Given the description of an element on the screen output the (x, y) to click on. 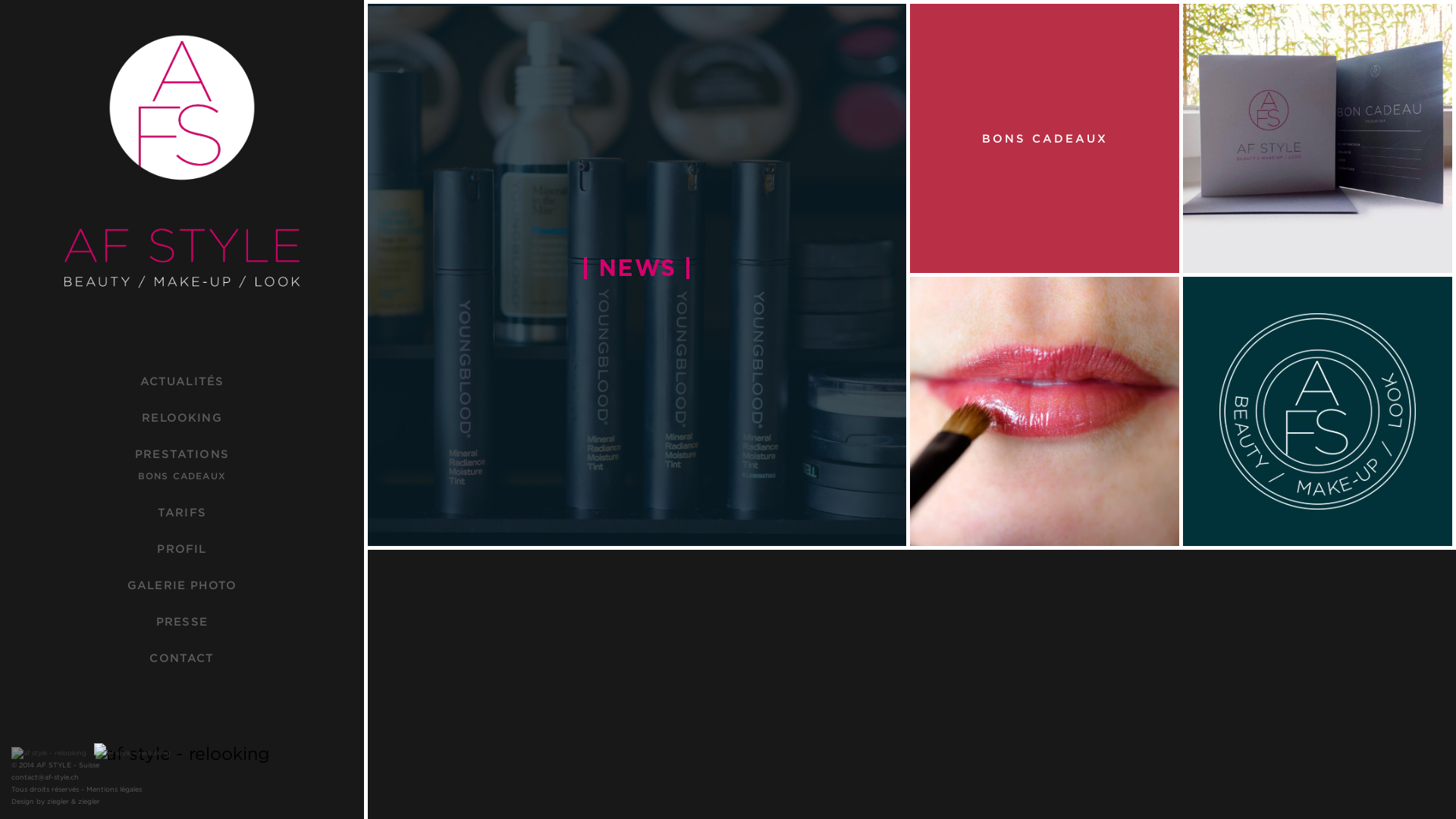
PRESSE Element type: text (181, 621)
BONS CADEAUX Element type: text (181, 475)
BONS CADEAUX Element type: text (1044, 138)
ziegler & ziegler Element type: text (73, 801)
TARIFS Element type: text (181, 511)
PRESTATIONS Element type: text (181, 453)
GALERIE PHOTO Element type: text (181, 584)
CONTACT Element type: text (181, 657)
| NEWS | Element type: text (636, 274)
PROFIL Element type: text (181, 548)
contact@af-style.ch Element type: text (44, 777)
RELOOKING Element type: text (181, 417)
